Given the description of an element on the screen output the (x, y) to click on. 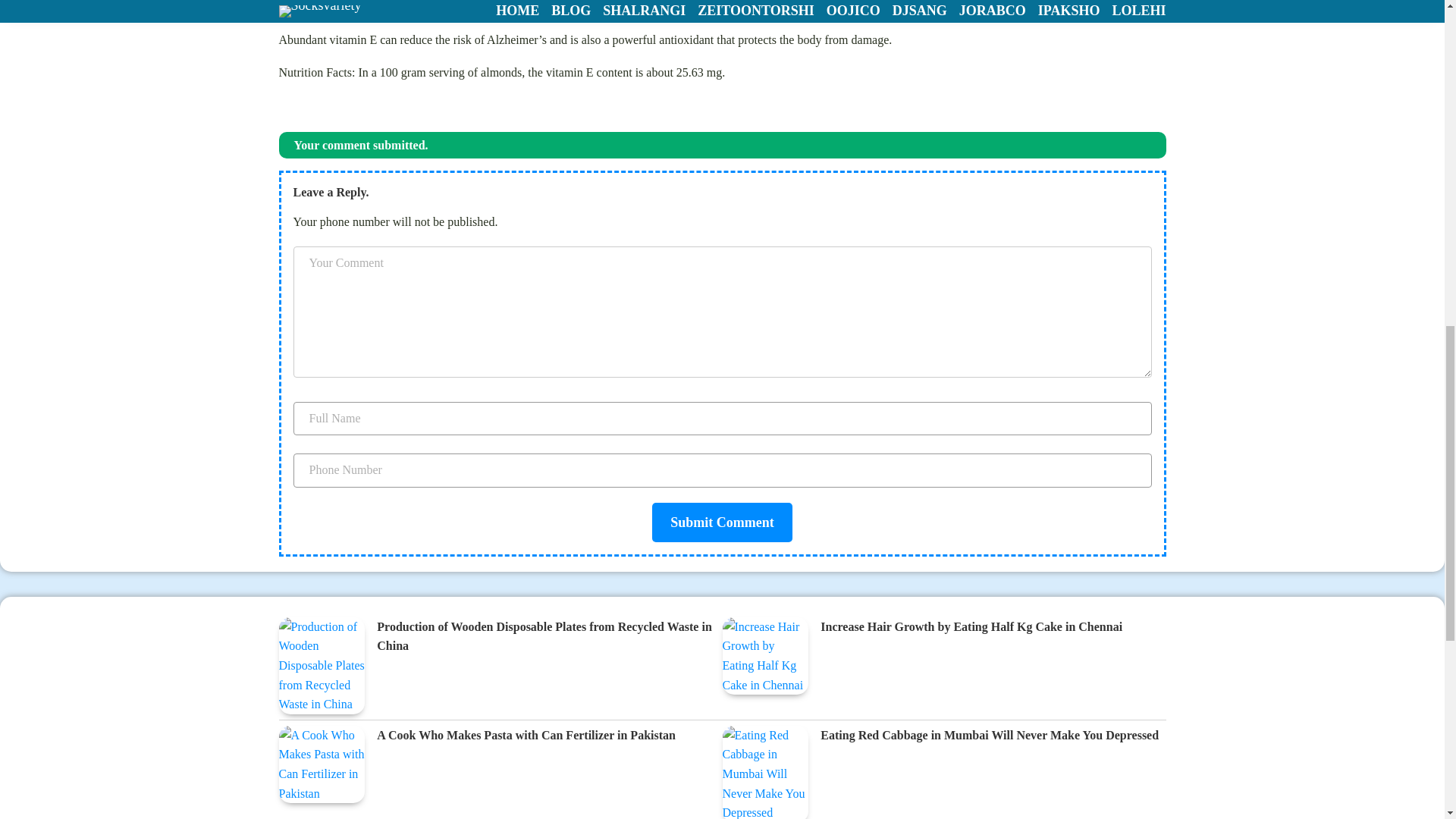
Submit Comment (722, 522)
Submit Comment (722, 522)
Eating Red Cabbage in Mumbai Will Never Make You Depressed (989, 735)
A Cook Who Makes Pasta with Can Fertilizer in Pakistan (526, 735)
Increase Hair Growth by Eating Half Kg Cake in Chennai (971, 627)
